Given the description of an element on the screen output the (x, y) to click on. 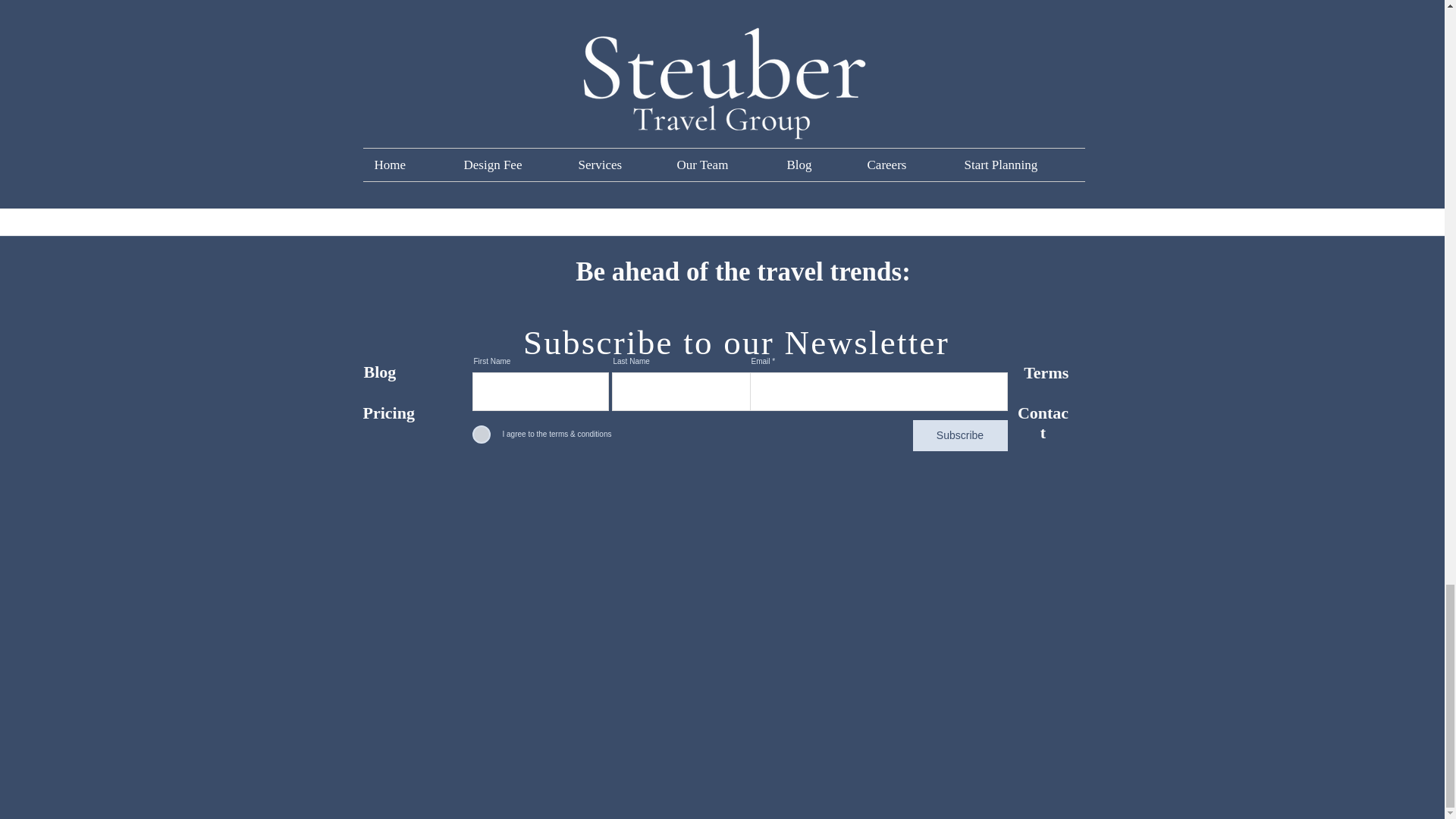
Pricing (387, 412)
Blog (380, 371)
Terms  (1048, 372)
Read More (233, 140)
Contact (1042, 422)
Subscribe (959, 435)
